Given the description of an element on the screen output the (x, y) to click on. 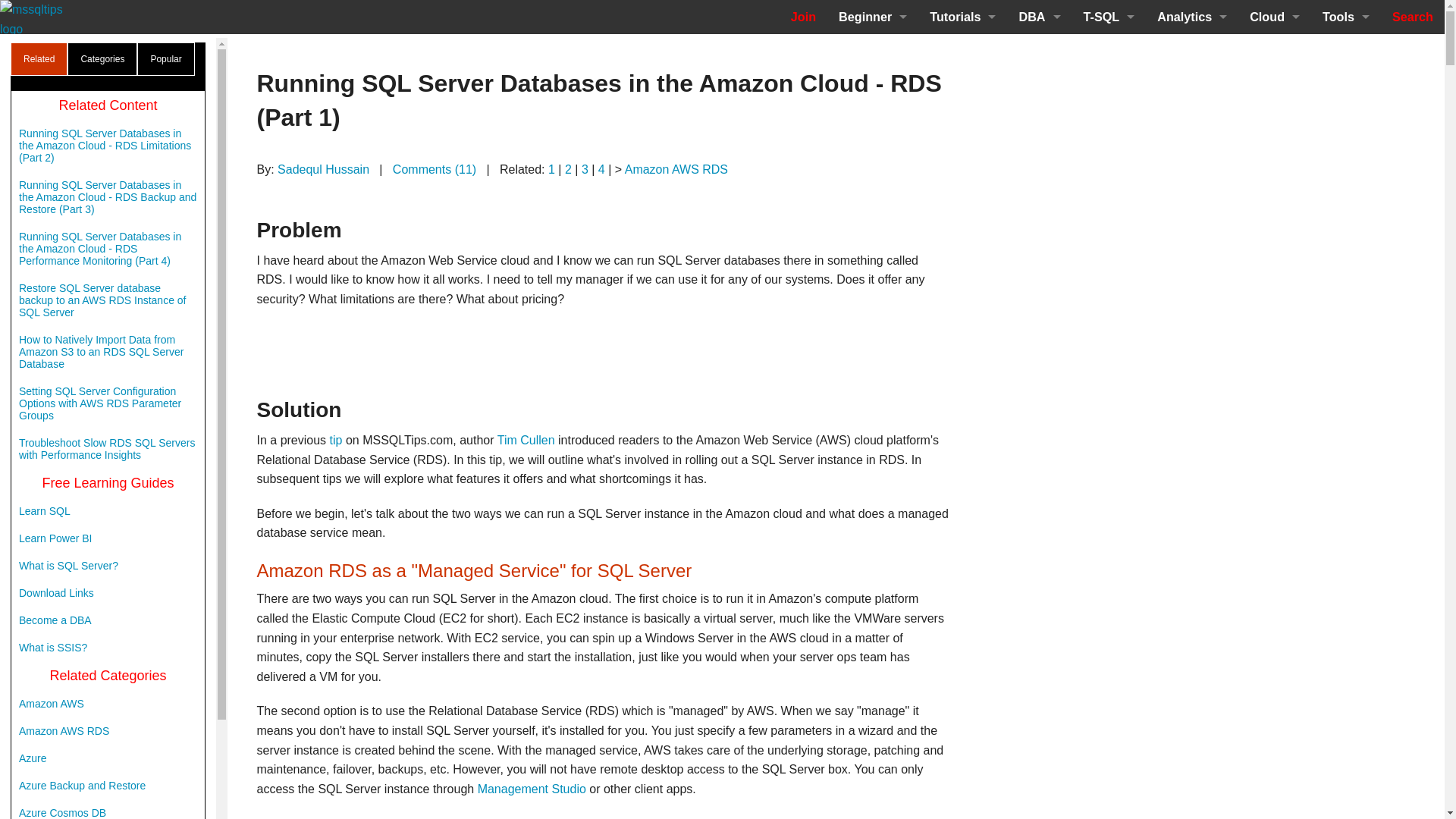
Backup (1039, 289)
Stored Procedure Tutorial (1109, 84)
All Tutorials (962, 255)
SQL Server Download Links (872, 153)
SQL Server 101 (962, 50)
Performance Tuning (1039, 84)
Tutorials (962, 17)
Beginner (872, 17)
What is SQL Server? (872, 50)
Restore (1039, 324)
Management Studio (1039, 255)
T-SQL (1109, 17)
author profile for Sadequl Hussain (323, 169)
SQL Server 101 (872, 84)
Cursor in SQL Server (1109, 187)
